Given the description of an element on the screen output the (x, y) to click on. 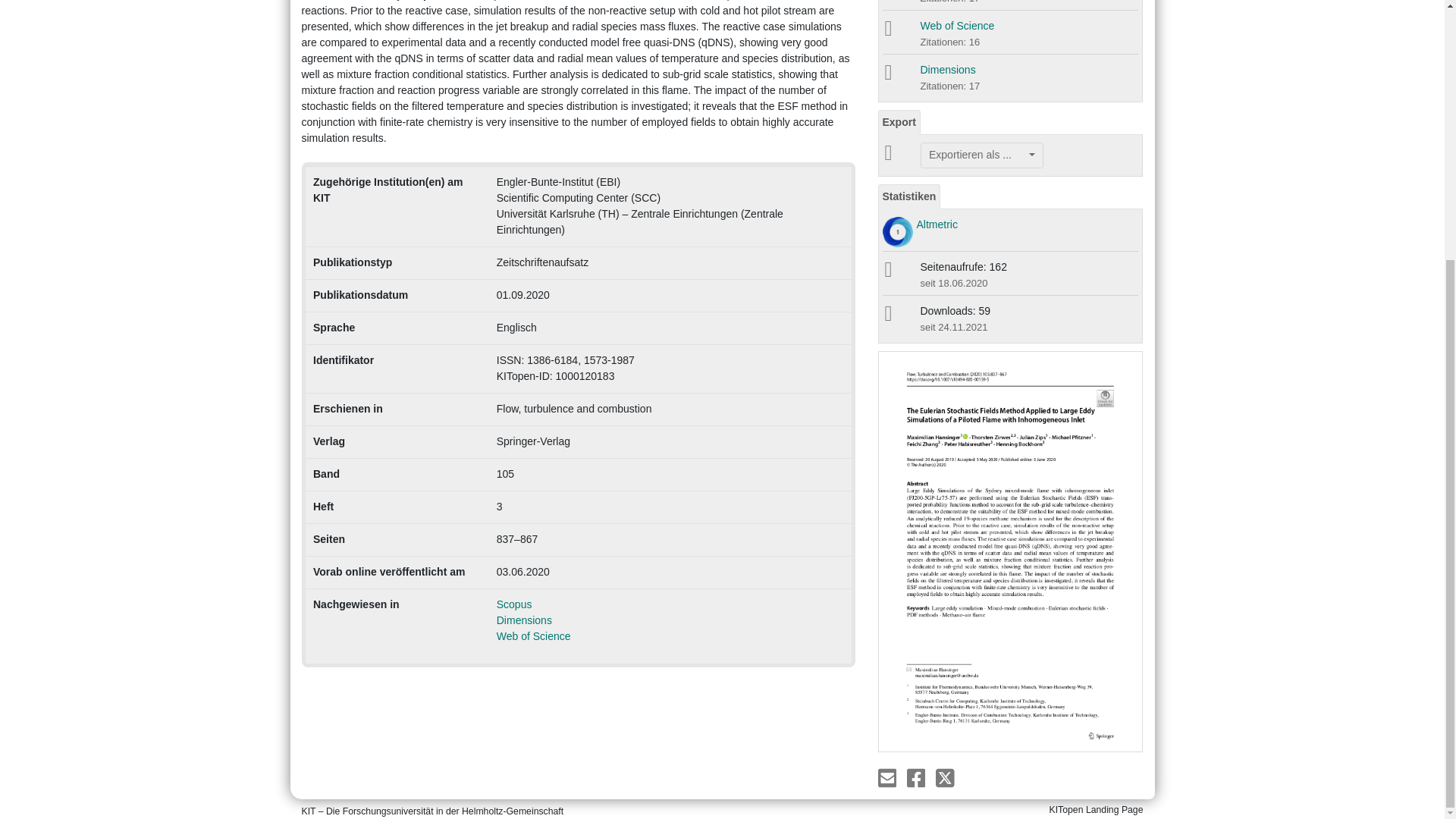
Per E-Mail teilen (888, 776)
View record in Altmetric. (935, 224)
Exportieren als ...     (981, 155)
Statistiken (908, 196)
Bei Facebook teilen (917, 776)
Scopus (514, 604)
Altmetric (935, 224)
Web of Science (533, 635)
Dimensions (523, 620)
Bei X teilen (945, 776)
Web of Science (957, 25)
Dimensions (947, 69)
Export (898, 122)
